Given the description of an element on the screen output the (x, y) to click on. 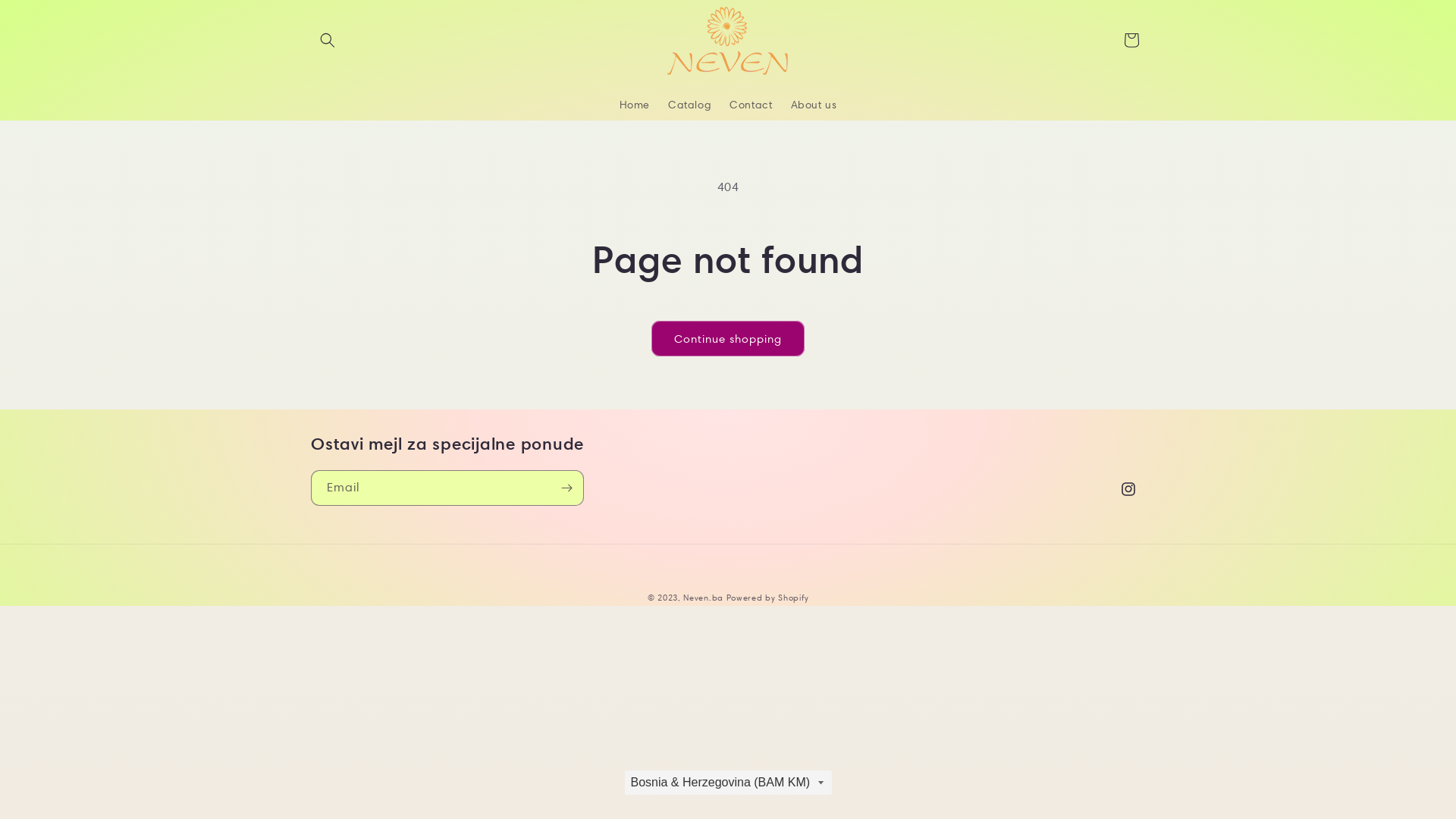
Powered by Shopify Element type: text (767, 597)
Catalog Element type: text (689, 103)
Cart Element type: text (1131, 39)
About us Element type: text (813, 103)
Instagram Element type: text (1128, 488)
Neven.ba Element type: text (703, 597)
Continue shopping Element type: text (727, 338)
Contact Element type: text (750, 103)
Home Element type: text (634, 103)
